Given the description of an element on the screen output the (x, y) to click on. 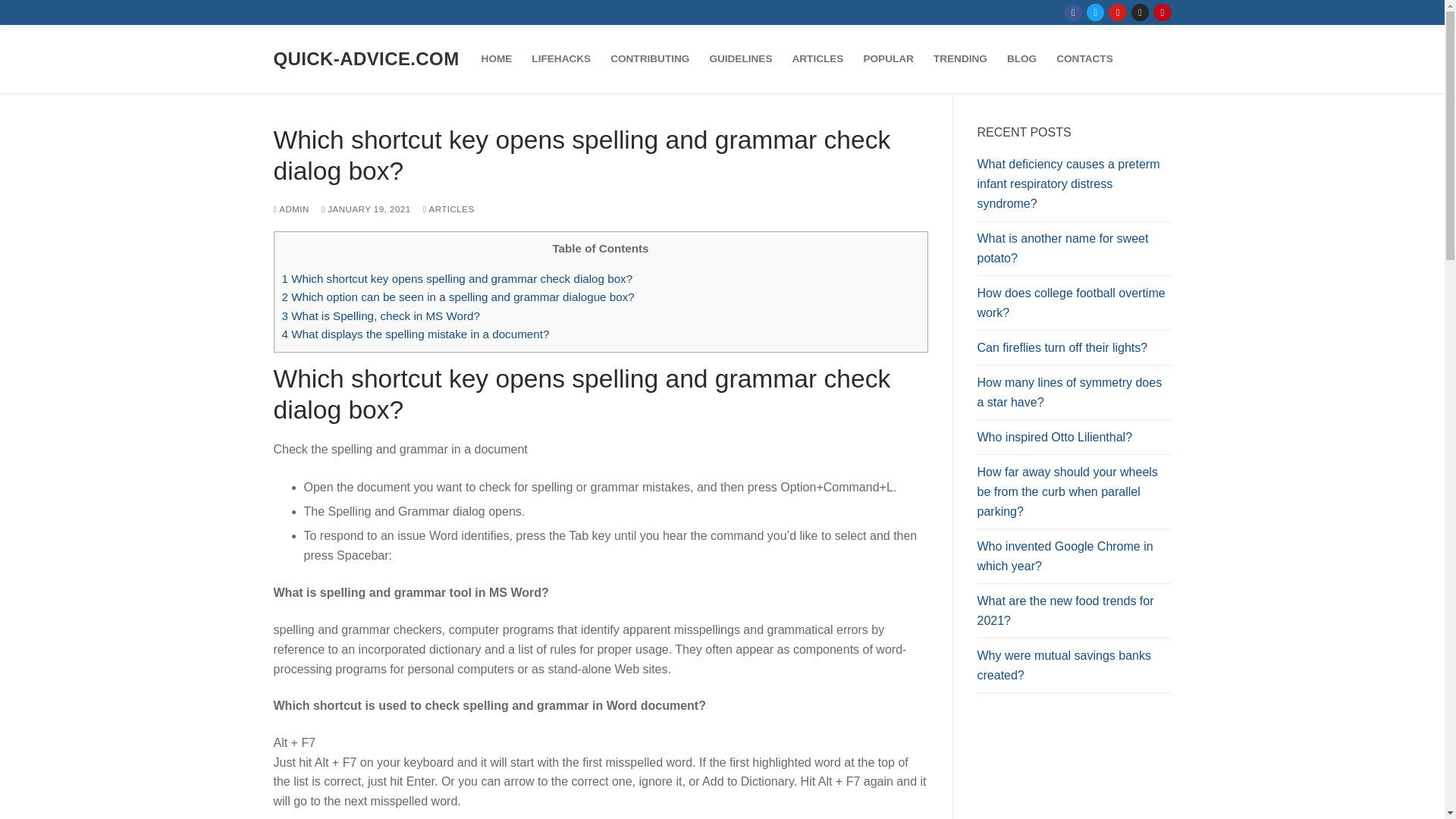
POPULAR (888, 59)
TRENDING (960, 59)
GUIDELINES (739, 59)
QUICK-ADVICE.COM (365, 58)
JANUARY 19, 2021 (365, 208)
CONTACTS (1084, 59)
Instagram (1139, 12)
LIFEHACKS (560, 59)
Youtube (1117, 12)
CONTRIBUTING (648, 59)
